Given the description of an element on the screen output the (x, y) to click on. 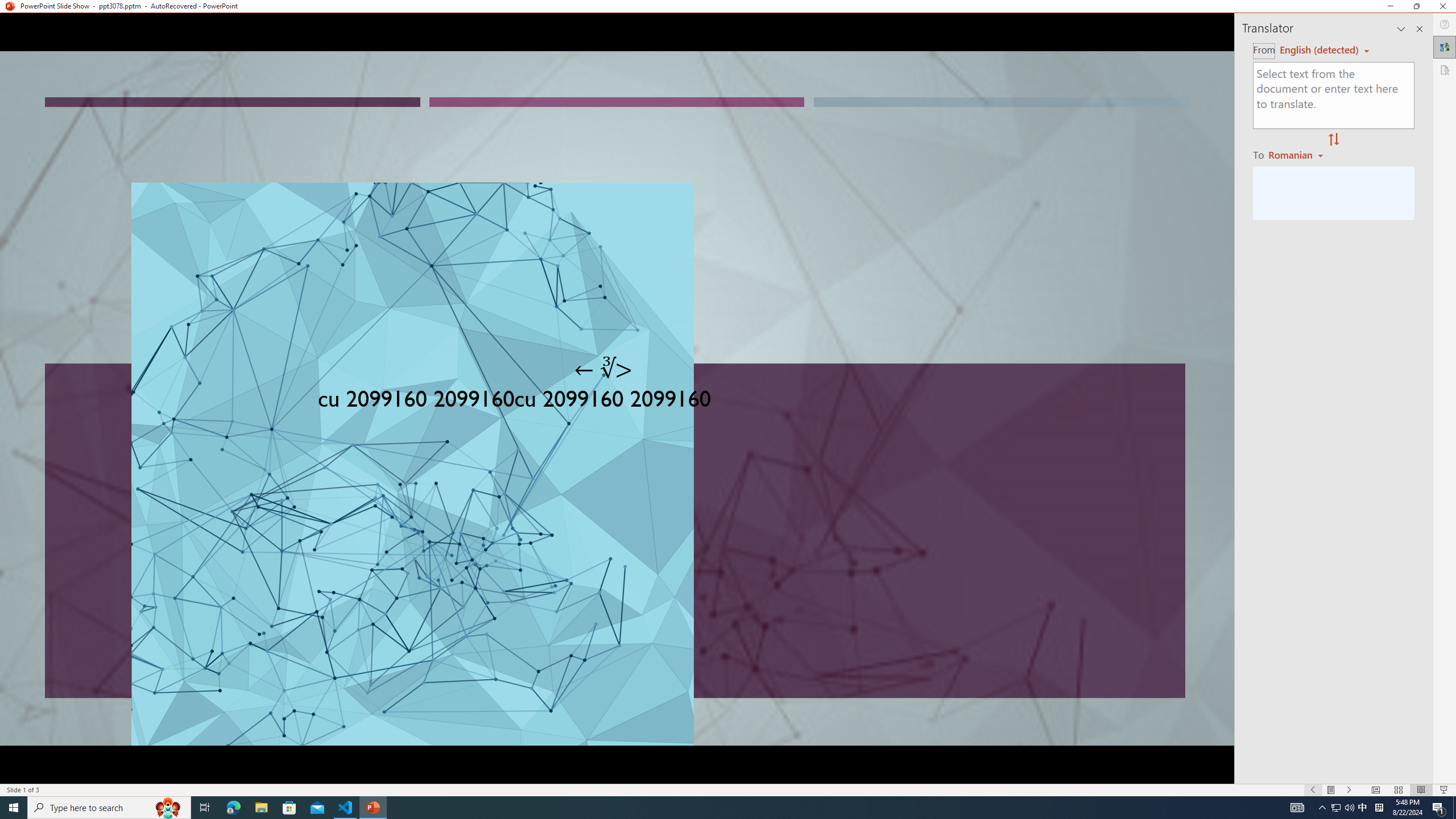
Czech (detected) (1319, 50)
